Given the description of an element on the screen output the (x, y) to click on. 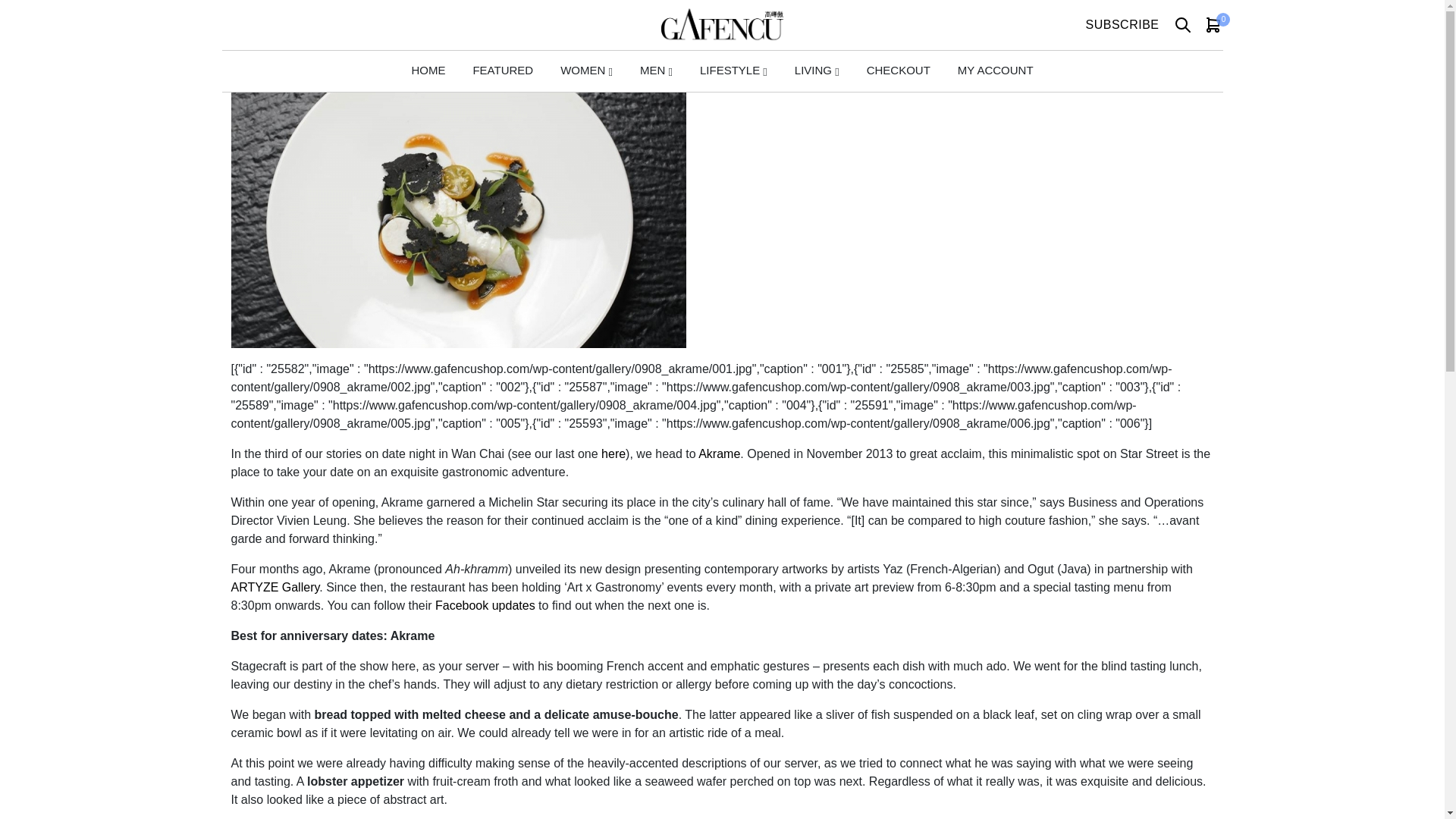
0 (1213, 24)
View your shopping cart (1213, 24)
SUBSCRIBE (1122, 24)
